Given the description of an element on the screen output the (x, y) to click on. 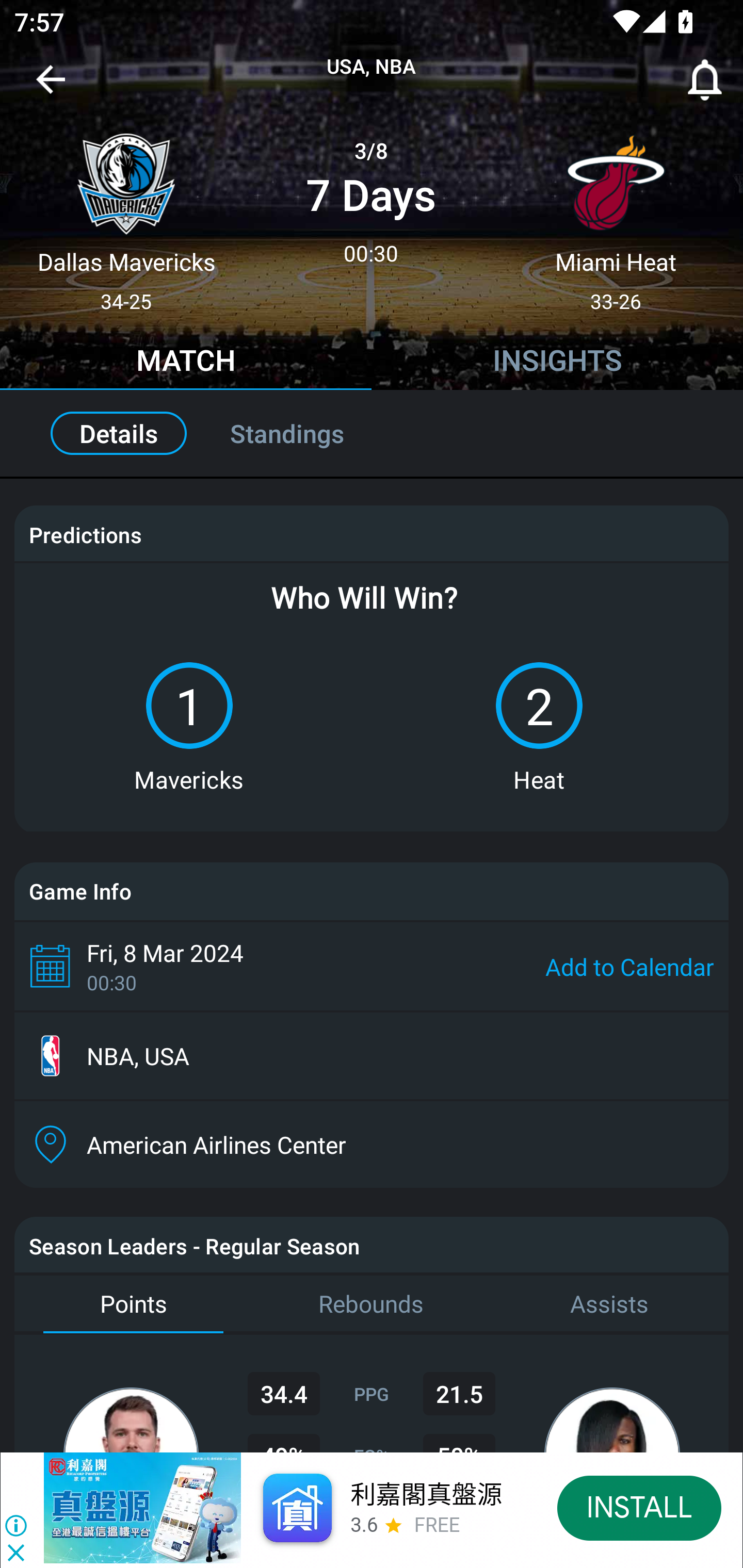
Navigate up (50, 86)
USA, NBA (371, 66)
Dallas Mavericks 34-25 (126, 214)
Miami Heat 33-26 (616, 214)
MATCH (185, 362)
INSIGHTS (557, 362)
Standings (308, 433)
Predictions (85, 534)
1 (189, 705)
2 (538, 705)
Game Info (371, 891)
Fri, 8 Mar 2024 00:30 Add to Calendar (371, 965)
NBA, USA (371, 1055)
American Airlines Center (371, 1144)
Rebounds (371, 1303)
Assists (609, 1303)
INSTALL (639, 1507)
利嘉閣真盤源 (425, 1494)
